Given the description of an element on the screen output the (x, y) to click on. 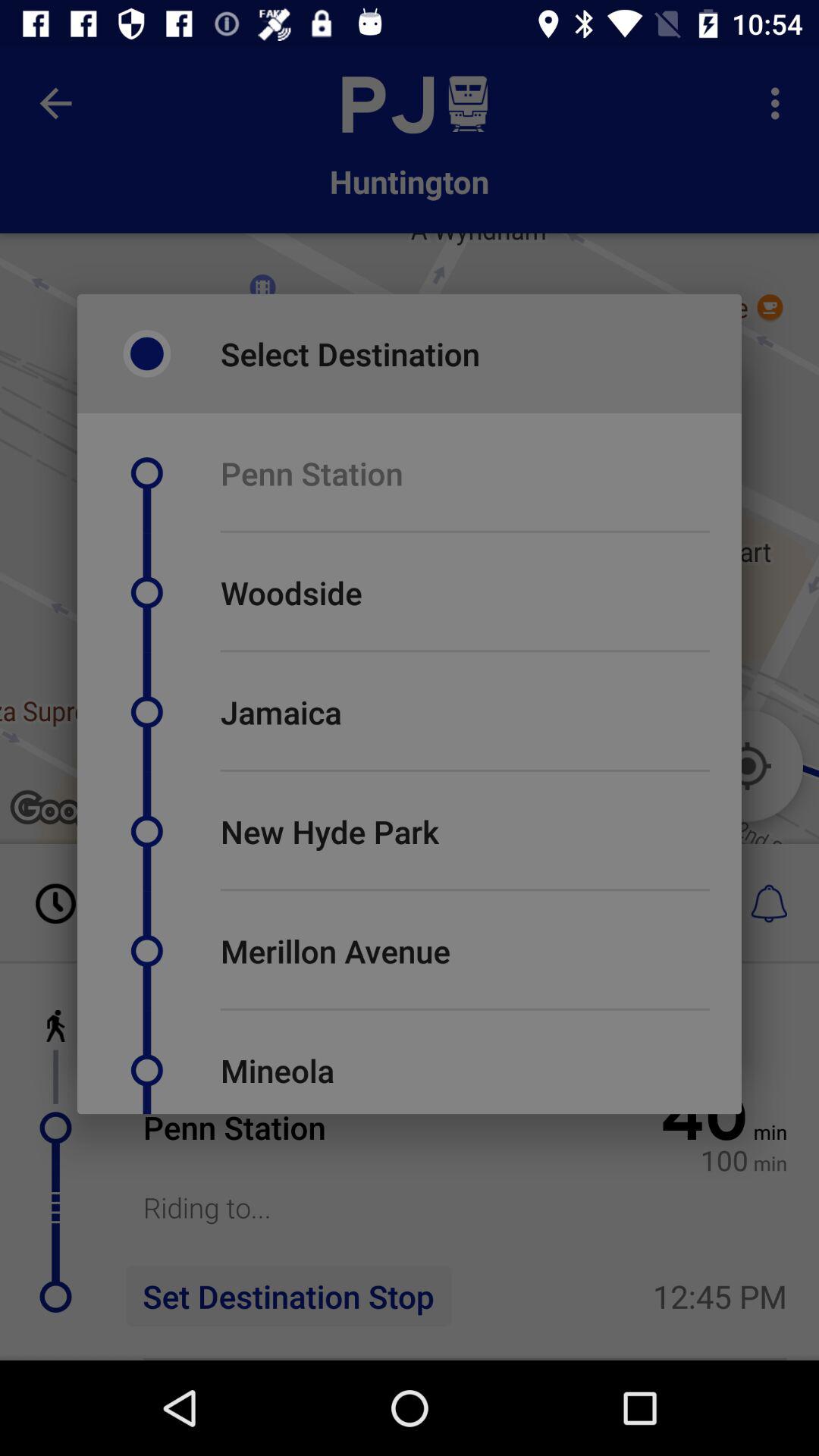
tap the item below the new hyde park (464, 889)
